Given the description of an element on the screen output the (x, y) to click on. 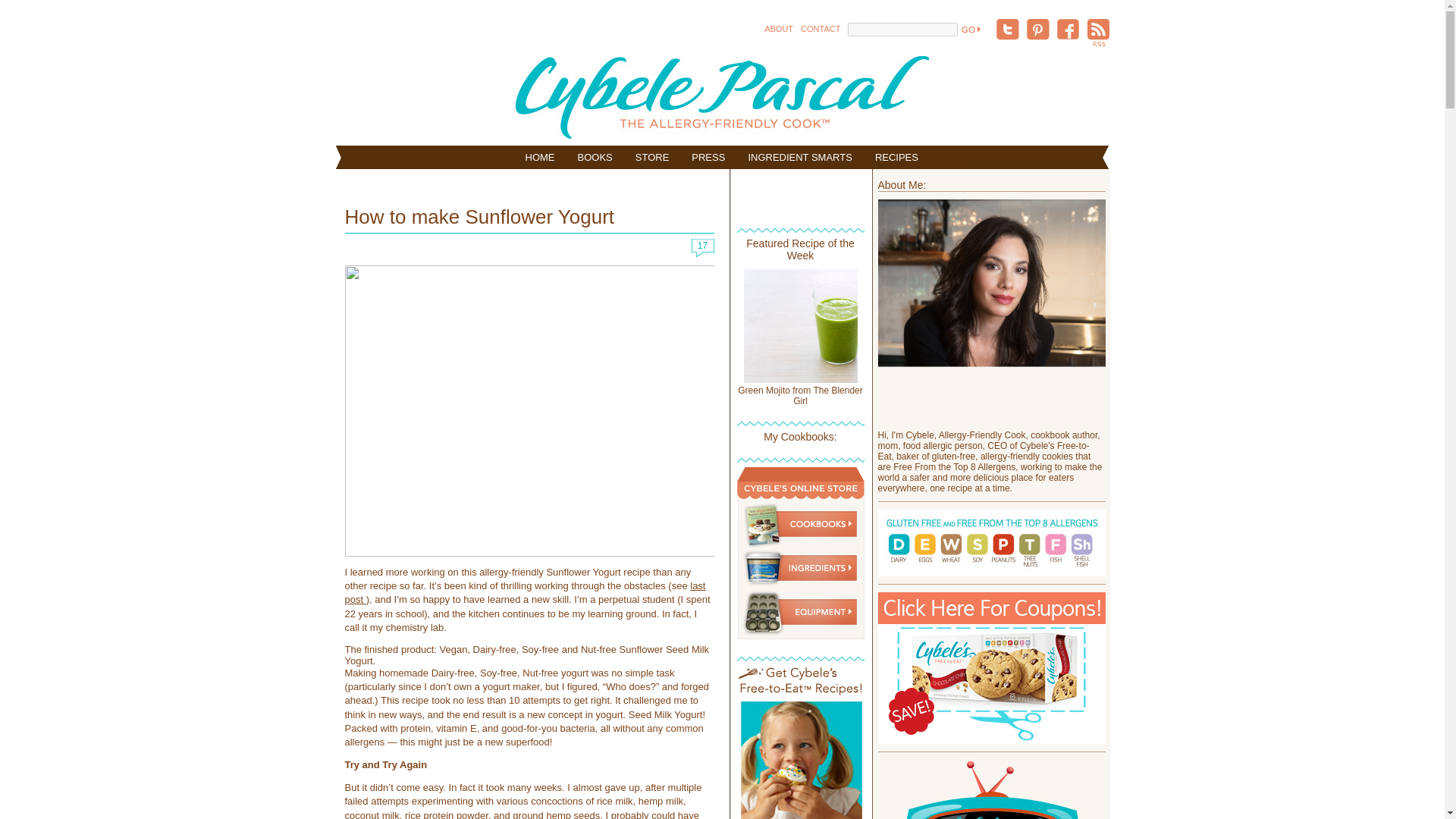
ABOUT (778, 28)
Search (969, 29)
Green Mojito (799, 379)
CONTACT (820, 28)
cybeles free to eat cookies coupons (991, 667)
FACEBOOK (1068, 29)
Cybele TV (991, 789)
RECIPES (896, 156)
STORE (652, 156)
PRESS (707, 156)
